Given the description of an element on the screen output the (x, y) to click on. 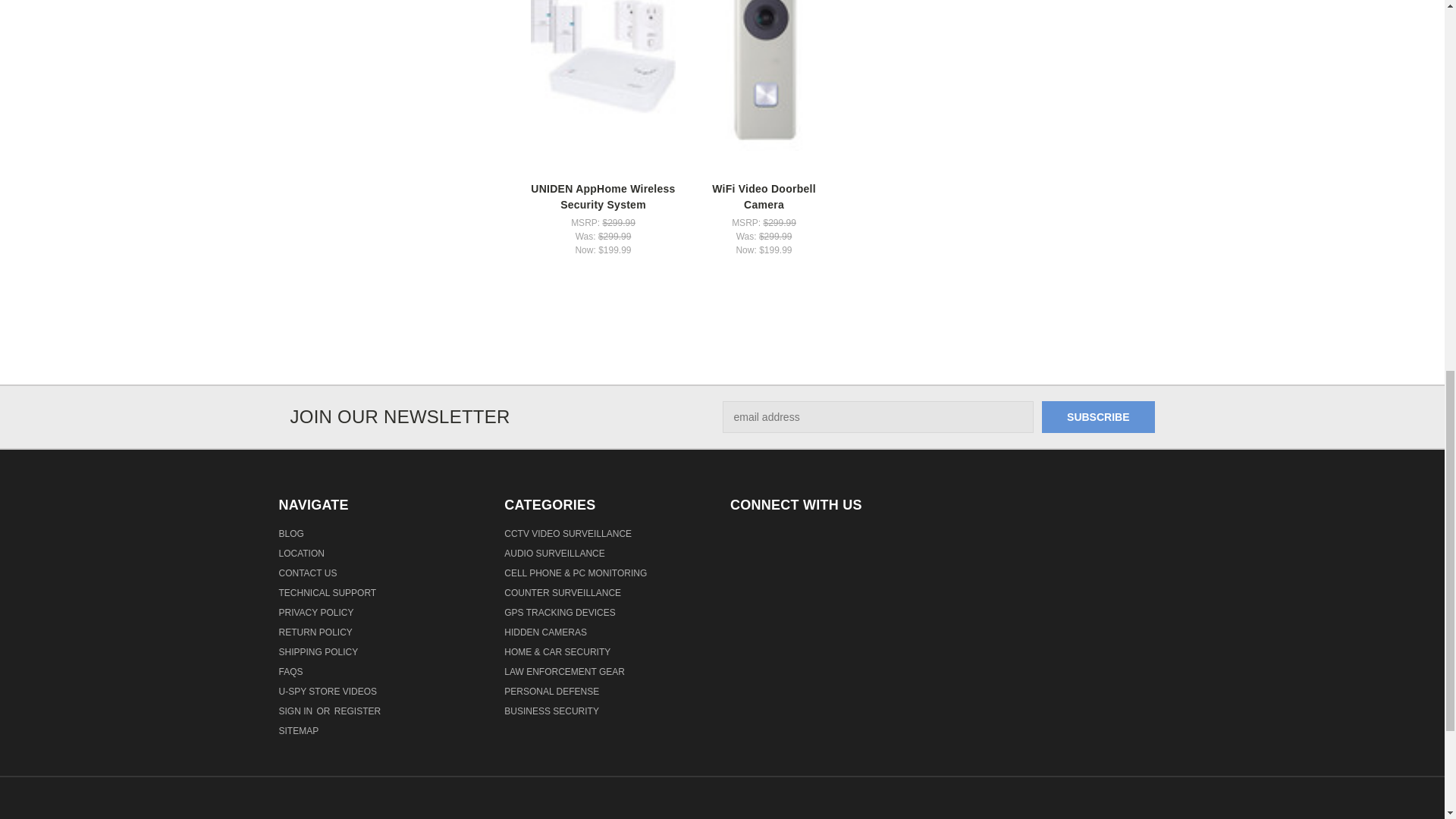
WiFi Video Doorbell Camera (763, 75)
Subscribe (1098, 417)
UNIDEN AppHome Wireless Security System (603, 63)
